Given the description of an element on the screen output the (x, y) to click on. 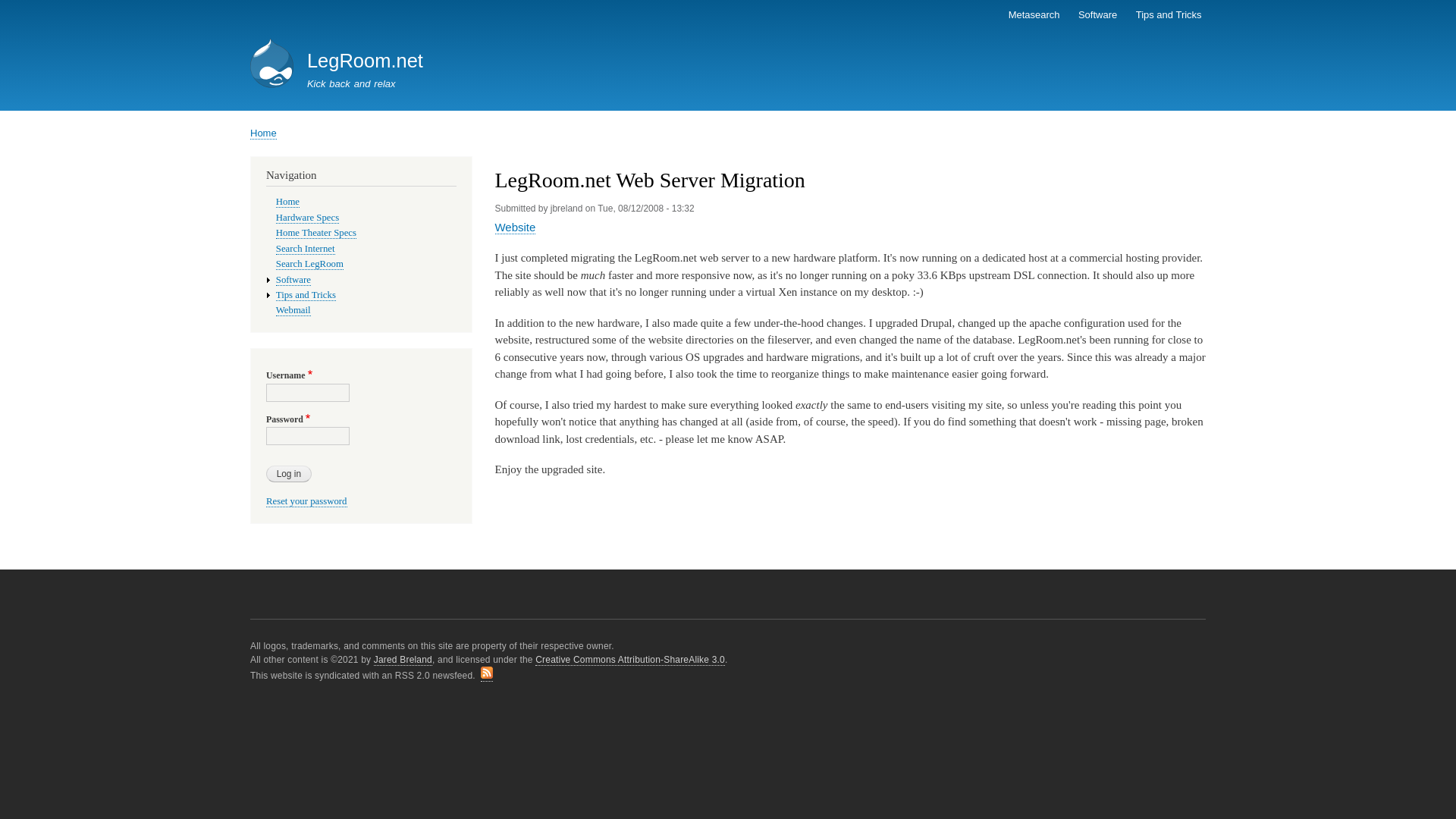
Search Internet (305, 248)
Reset your password (306, 501)
Skip to main content (728, 1)
Log in (288, 474)
Creative Commons Attribution-ShareAlike 3.0 (630, 659)
Software (293, 279)
Software (1097, 15)
Log in (288, 474)
Jared Breland (403, 659)
Home (287, 202)
